Given the description of an element on the screen output the (x, y) to click on. 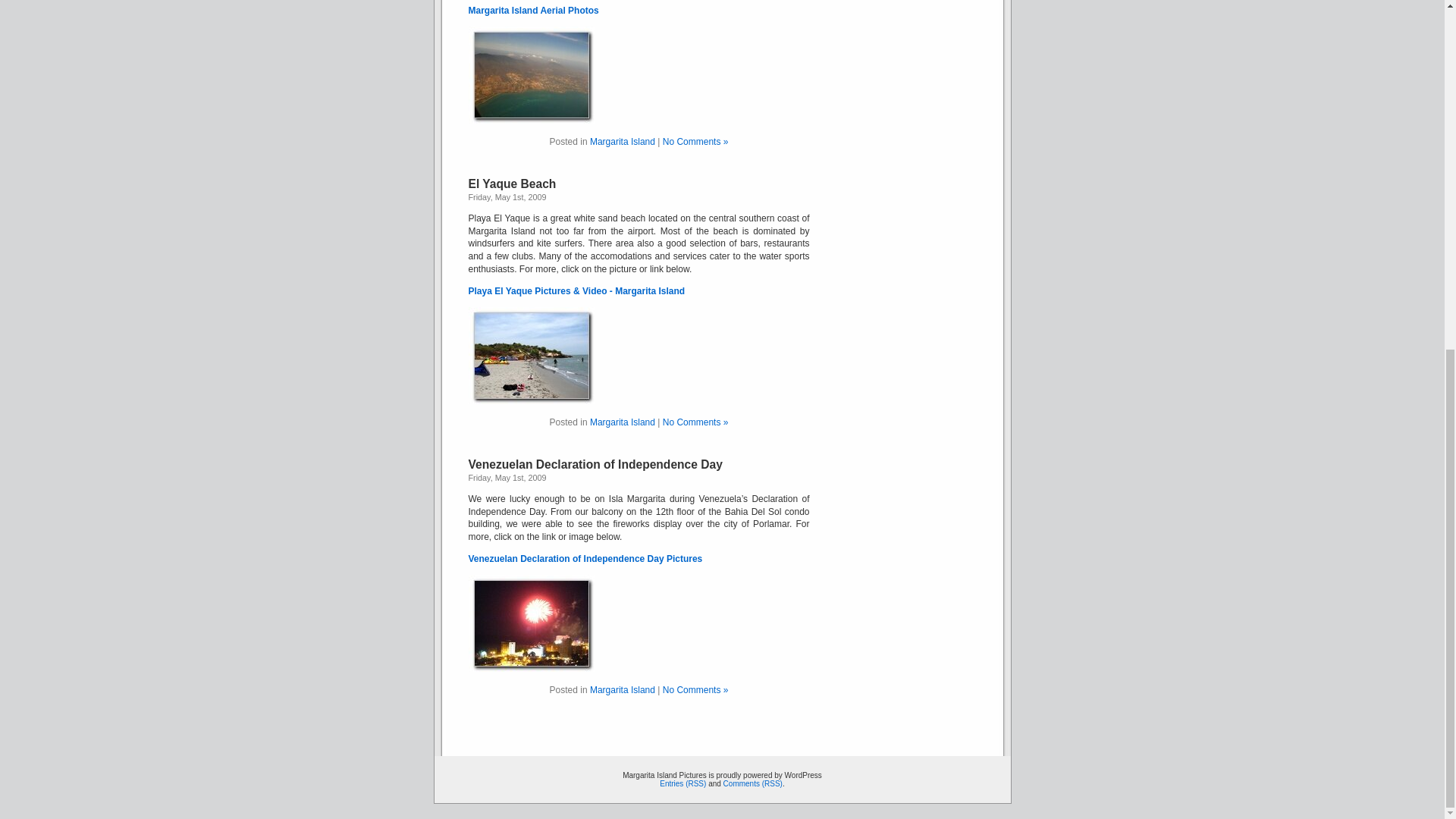
Isla Margarita Aerial Photos (531, 74)
Margarita Island (622, 421)
Venezuelan Declaration of Independence Day Pictures (585, 558)
Comment on El Yaque Beach (695, 421)
Venezuelan Declaration of Independence Day (595, 463)
Permanent Link to El Yaque Beach (512, 183)
Margarita Island (622, 141)
El Yaque Beach (512, 183)
View all posts in Margarita Island (622, 421)
View all posts in Margarita Island (622, 689)
Permanent Link to Venezuelan Declaration of Independence Day (595, 463)
Comment on Isla Margarita Aerial Photos (695, 141)
Margarita Island (622, 689)
View all posts in Margarita Island (622, 141)
